Given the description of an element on the screen output the (x, y) to click on. 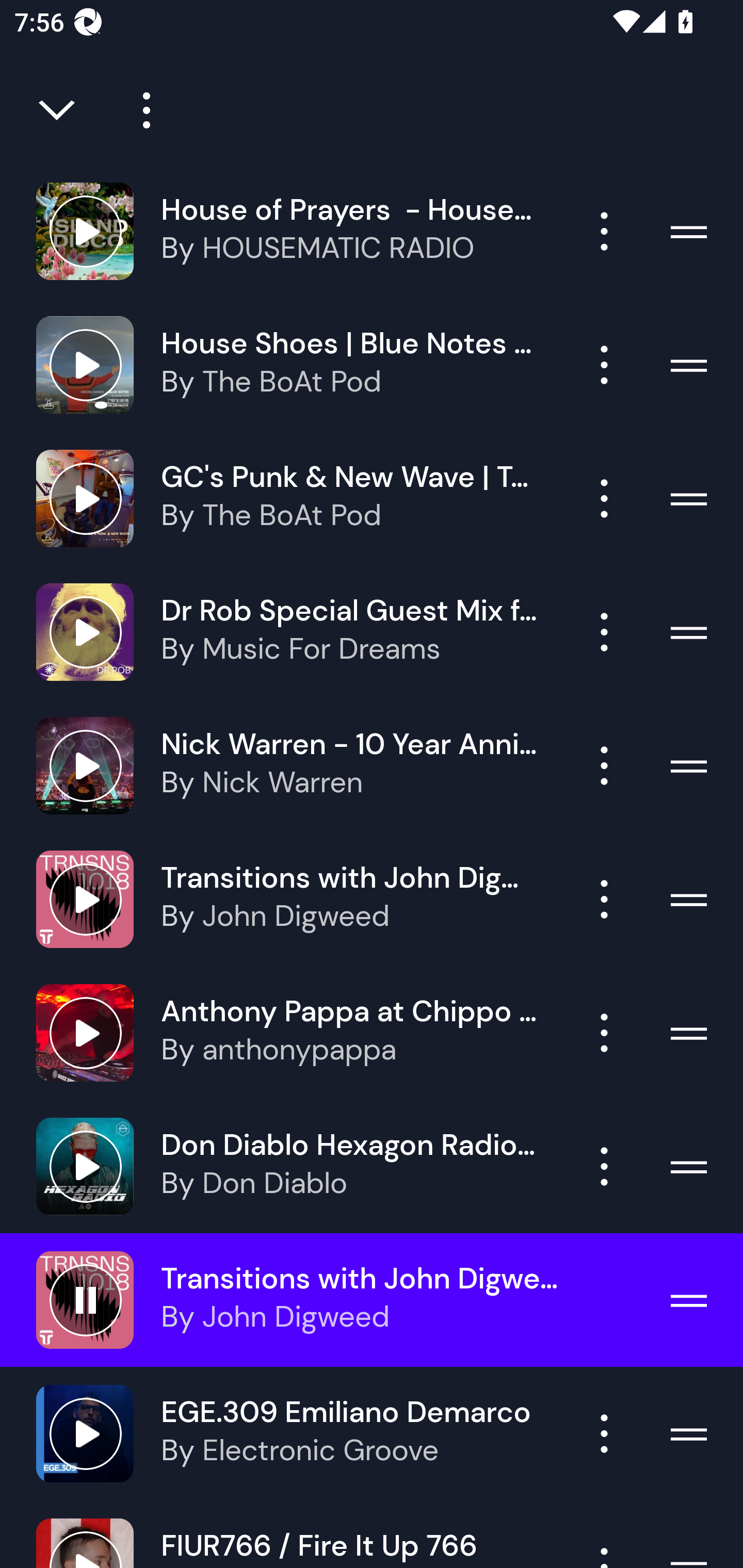
Closes the queue (58, 110)
Queue more options button (139, 110)
Show options button (604, 230)
Show options button (604, 364)
Show options button (604, 498)
Show options button (604, 631)
Show options button (604, 764)
Show options button (604, 898)
Show options button (604, 1032)
Show options button (604, 1166)
Show options button (604, 1432)
